Given the description of an element on the screen output the (x, y) to click on. 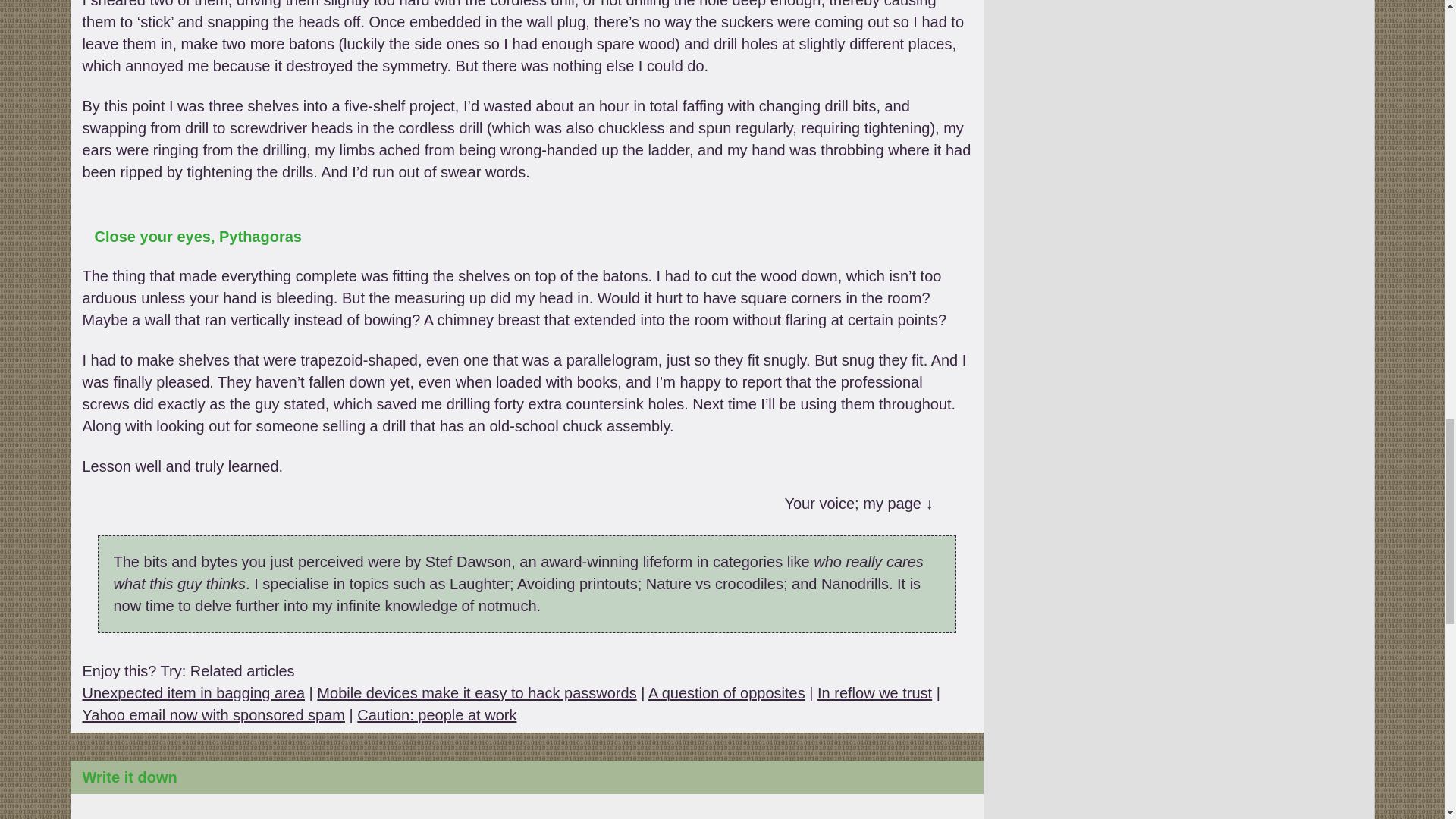
Yahoo email now with sponsored spam (212, 714)
In reflow we trust (873, 692)
Unexpected item in bagging area (192, 692)
A question of opposites (726, 692)
Caution: people at work (436, 714)
Mobile devices make it easy to hack passwords (476, 692)
